Given the description of an element on the screen output the (x, y) to click on. 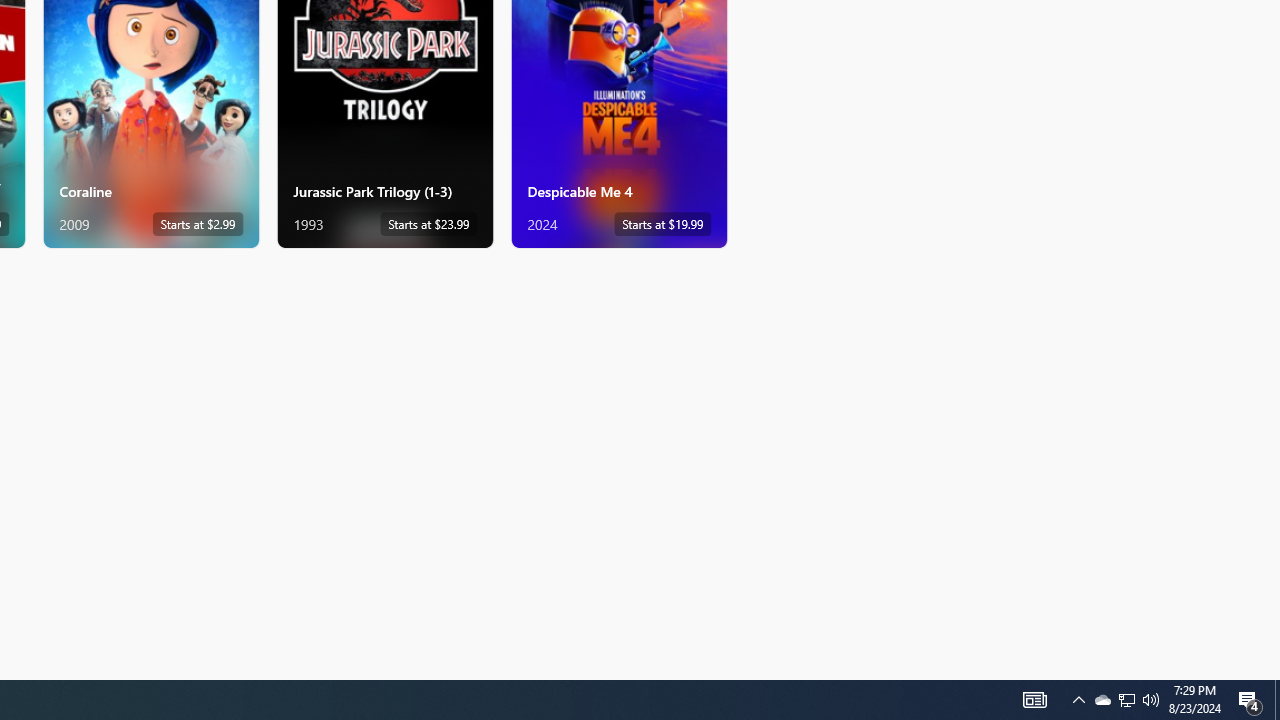
Vertical Small Increase (1272, 672)
